Given the description of an element on the screen output the (x, y) to click on. 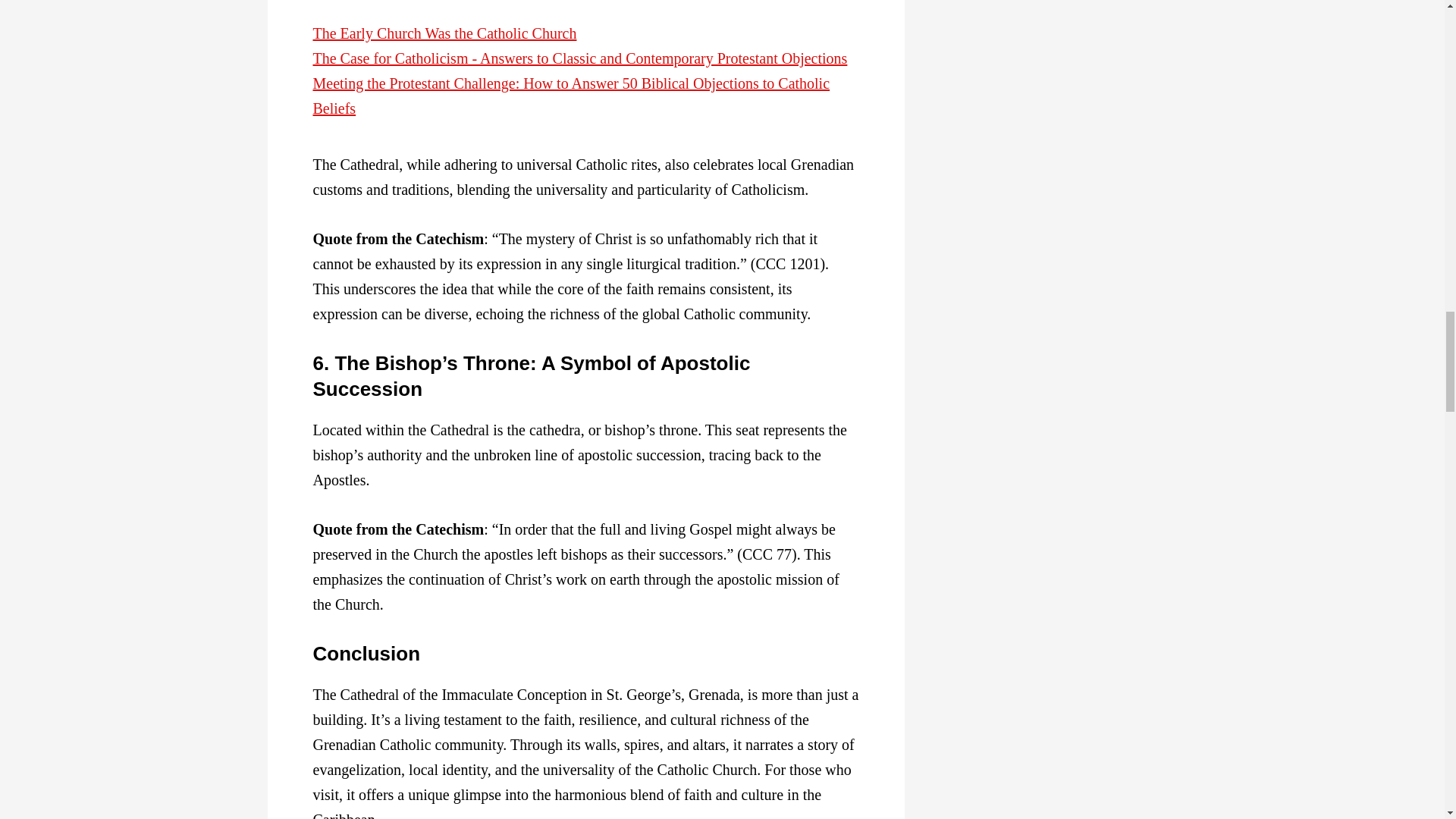
The Early Church Was the Catholic Church (444, 33)
